Given the description of an element on the screen output the (x, y) to click on. 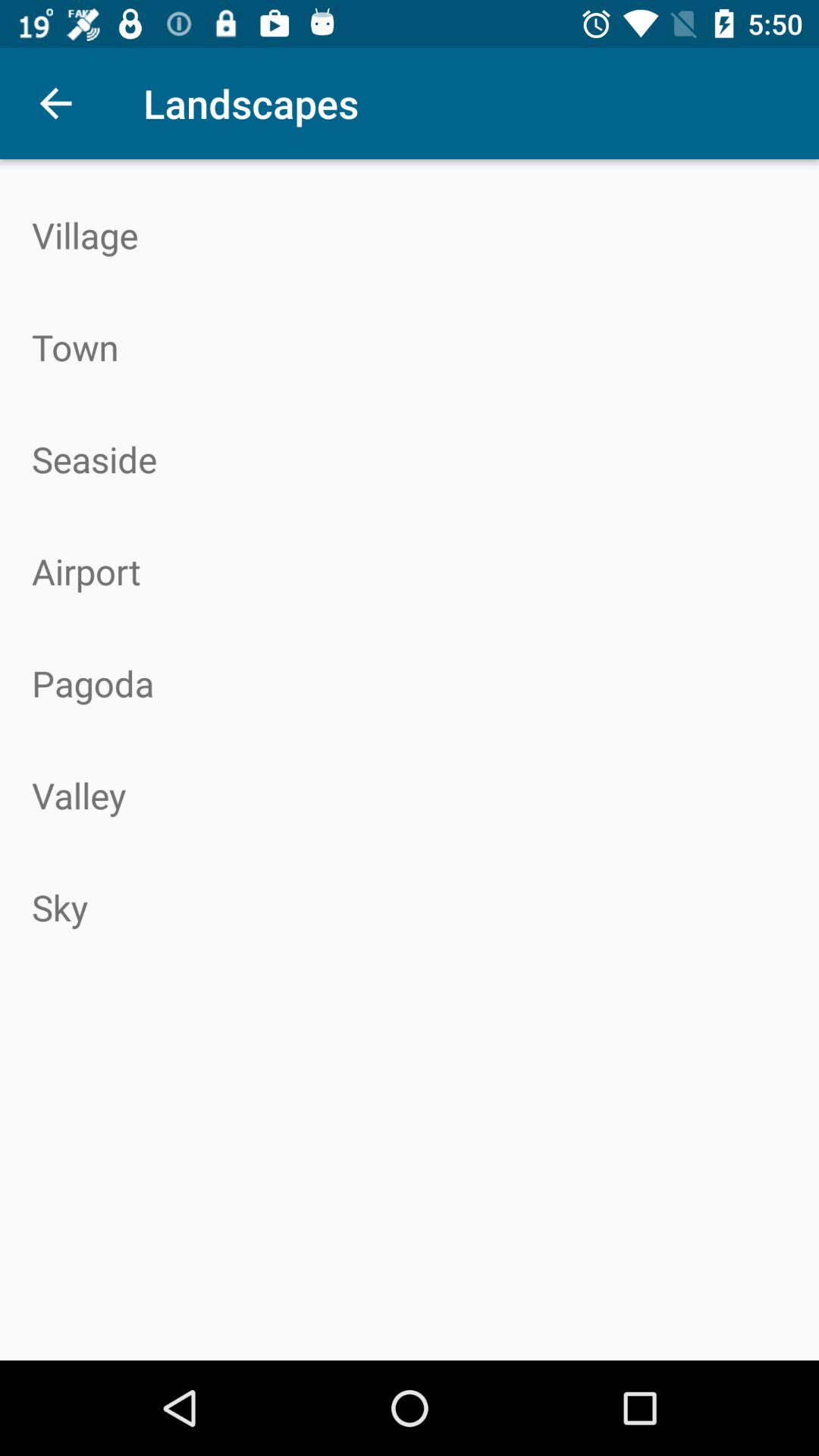
click icon below seaside (409, 571)
